Given the description of an element on the screen output the (x, y) to click on. 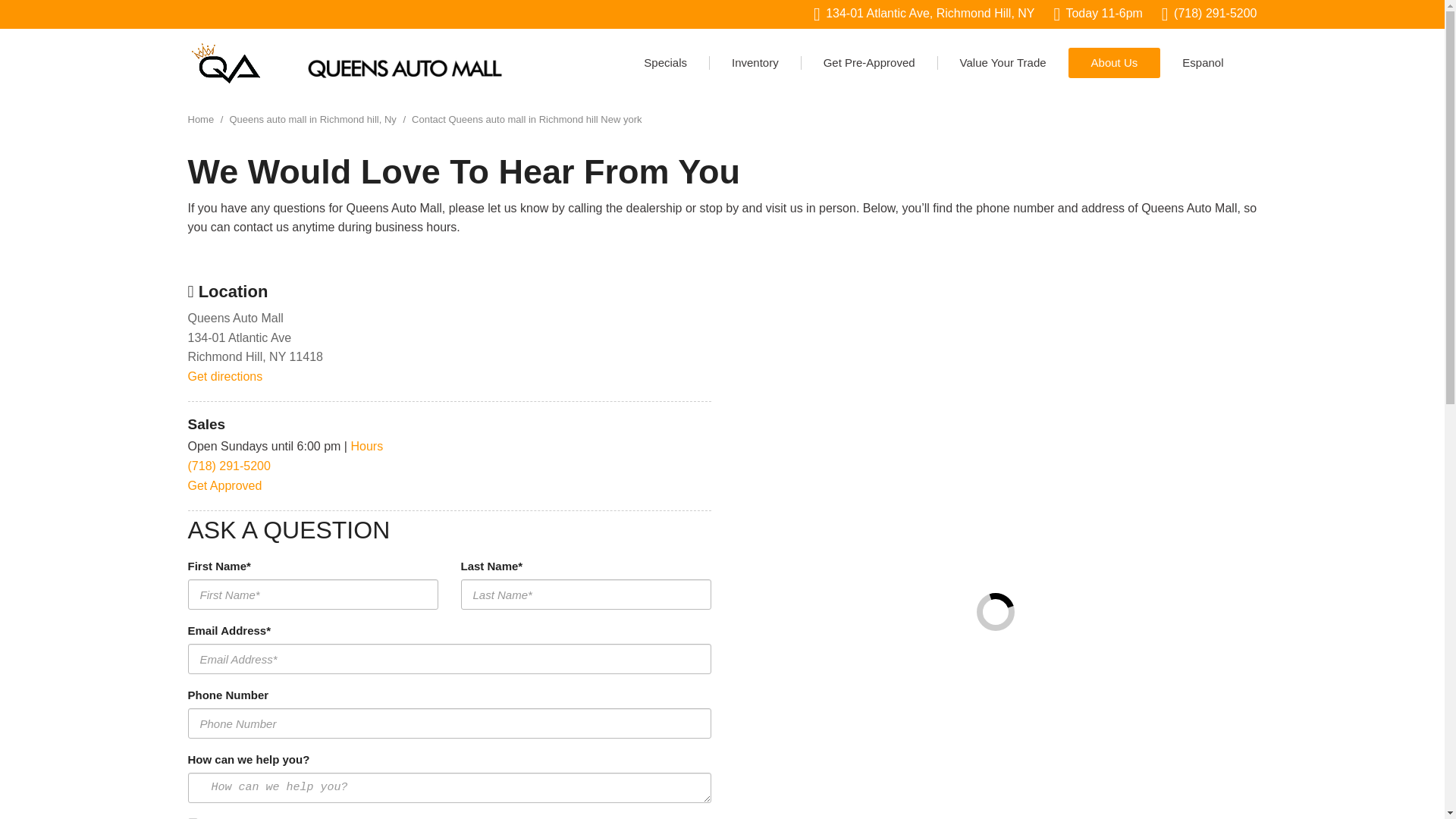
Queens Auto Mall (224, 62)
134-01 Atlantic Ave, Richmond Hill, NY (924, 14)
Value Your Trade (1002, 62)
Specials (665, 62)
Hours (366, 445)
Inventory (755, 62)
Home (201, 119)
Get Approved (224, 485)
Get Pre-Approved (868, 62)
About Us (1114, 62)
